Given the description of an element on the screen output the (x, y) to click on. 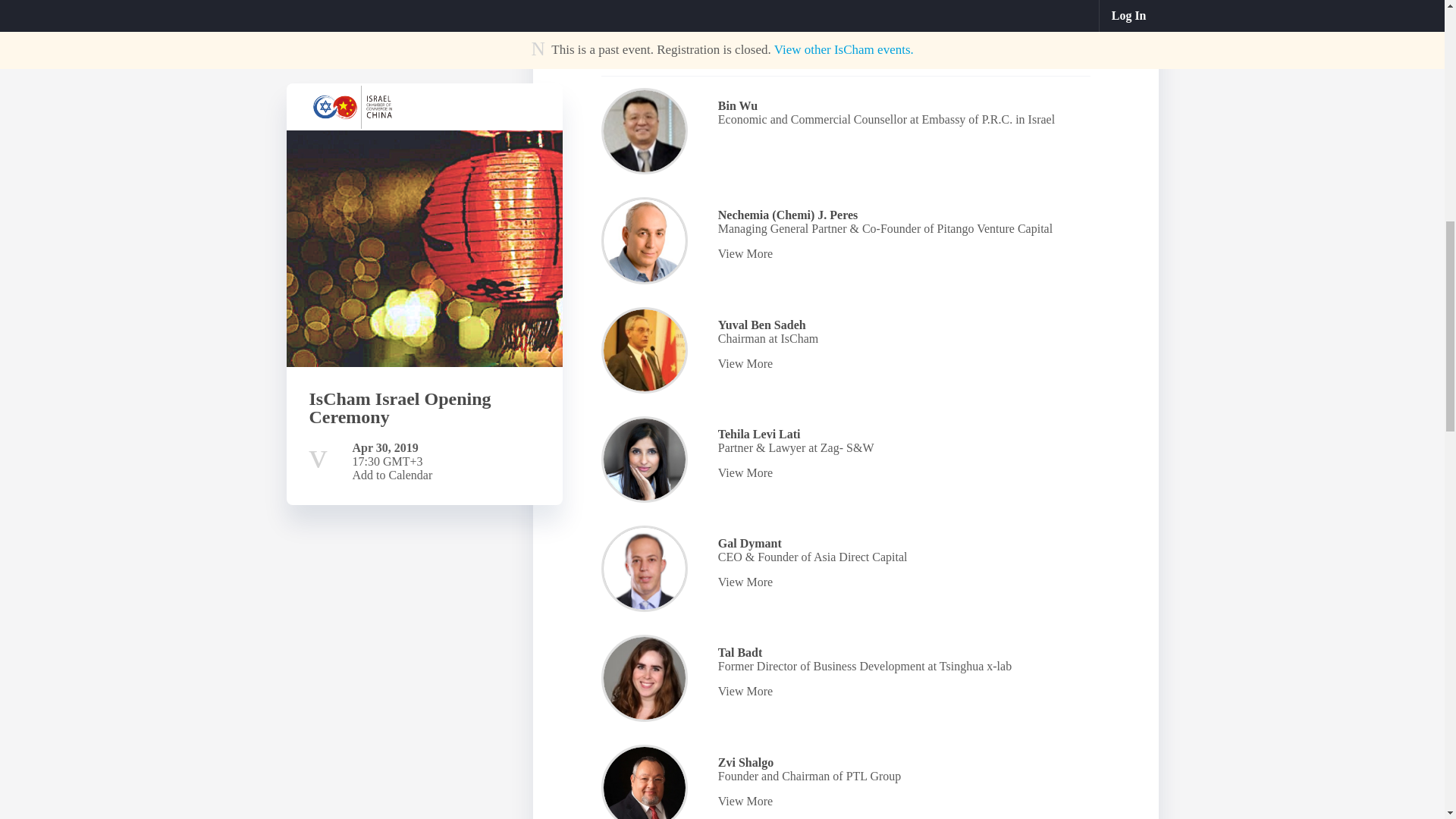
View More (900, 254)
View More (900, 581)
View More (900, 472)
View More (900, 801)
View More (900, 364)
View More (900, 691)
